Given the description of an element on the screen output the (x, y) to click on. 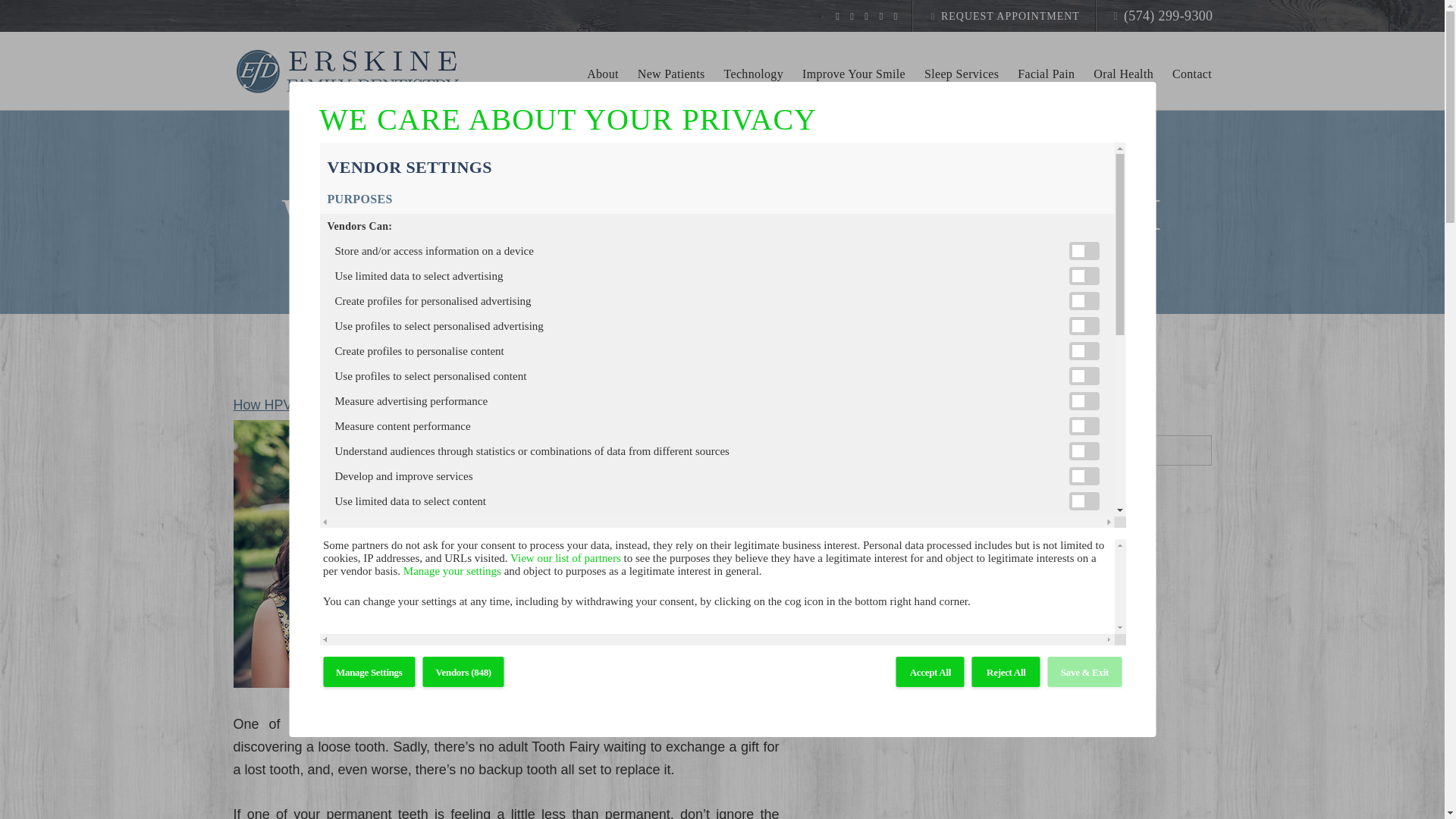
New Patients (670, 83)
Improve Your Smile (853, 83)
REQUEST APPOINTMENT (1003, 15)
Sleep Services (961, 83)
Technology (753, 83)
